Given the description of an element on the screen output the (x, y) to click on. 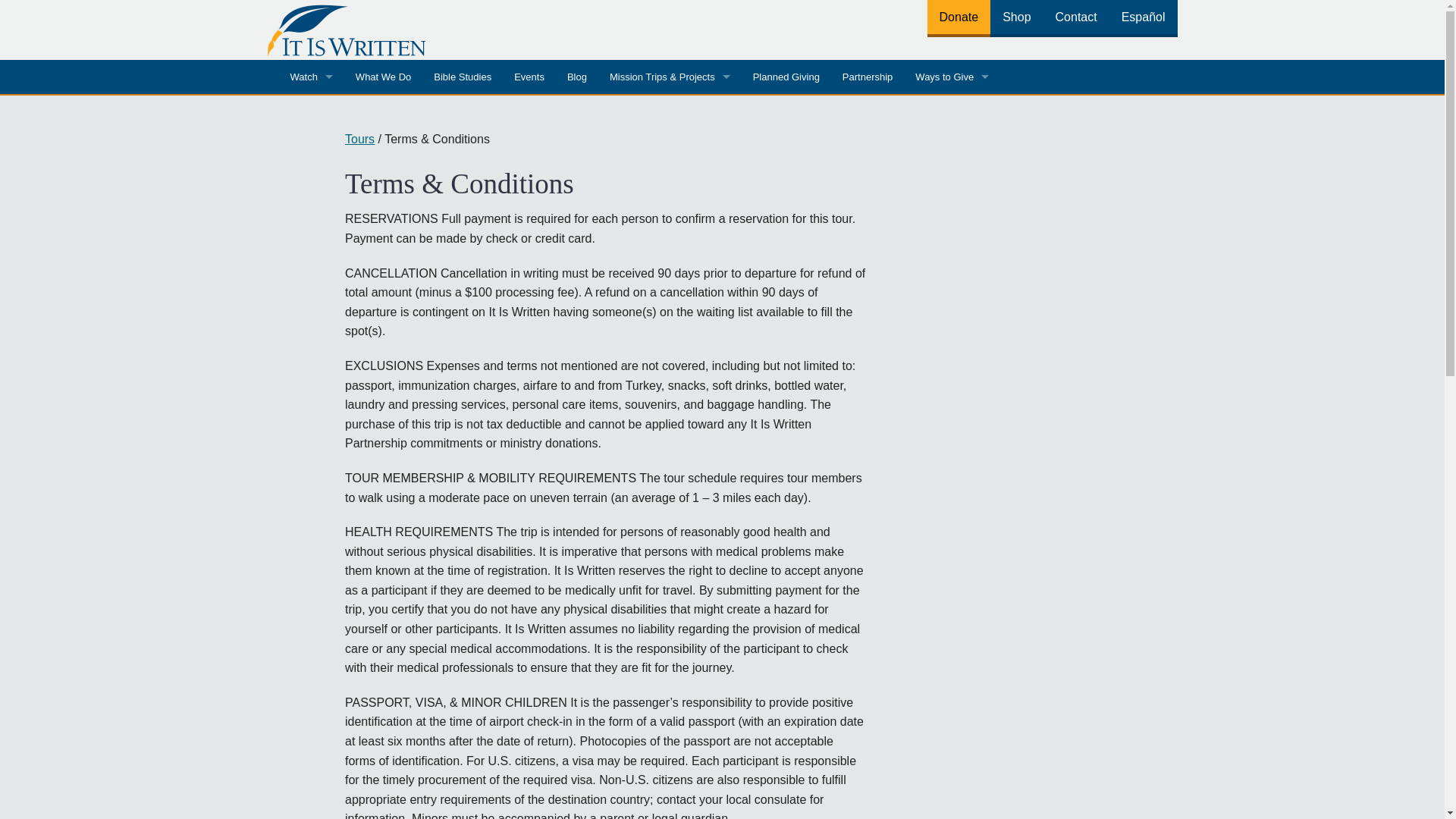
Partnership (867, 76)
Every Word in ASL (311, 281)
Hope Awakens (311, 179)
Planned Giving (786, 76)
Bible Studies (462, 76)
Puerto Rico 2024 Mission Trip (669, 110)
Donate (959, 17)
Blog (577, 76)
Give to a Project (952, 110)
In The Word (311, 213)
